Given the description of an element on the screen output the (x, y) to click on. 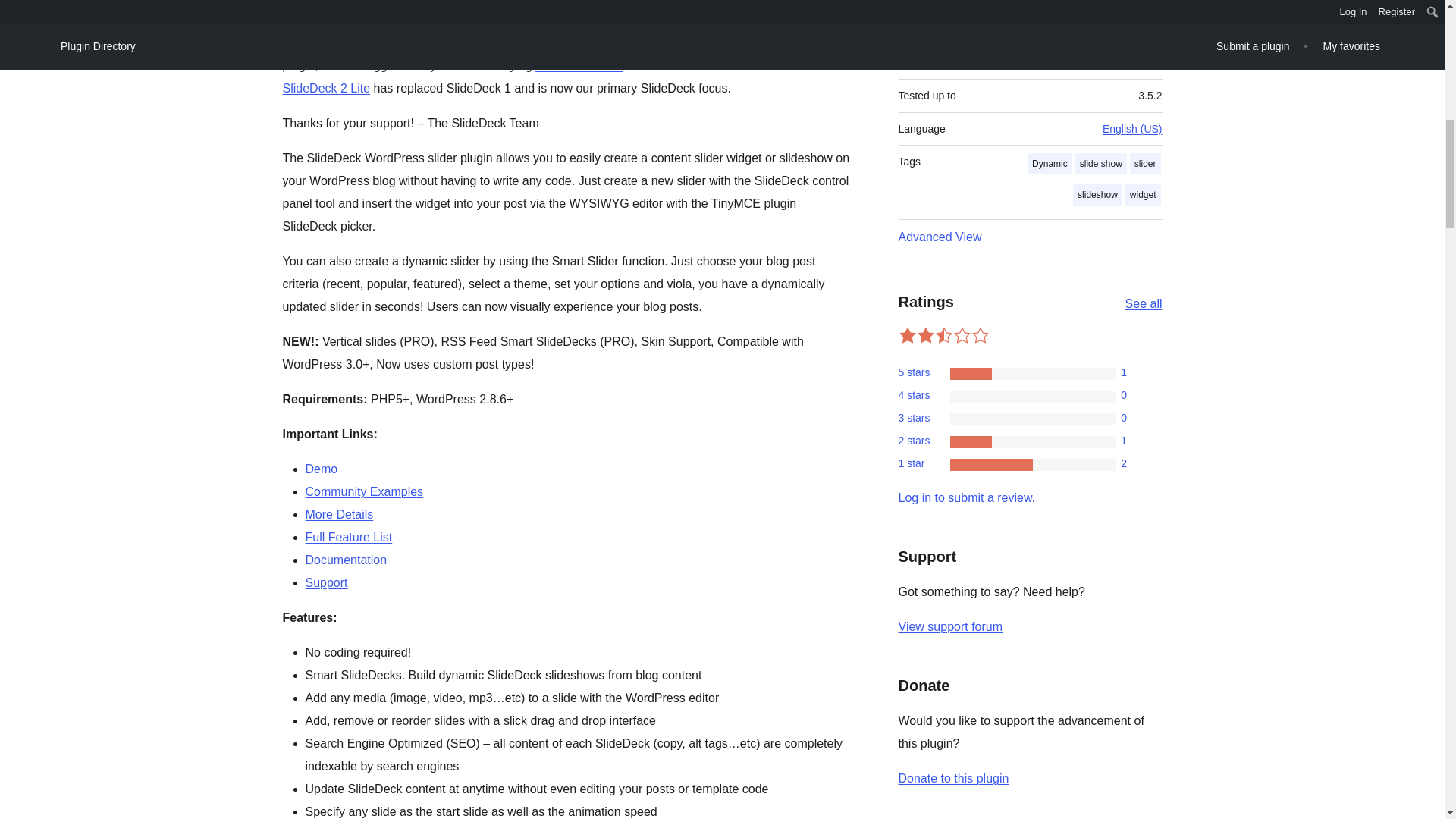
Community Examples (363, 491)
Documentation (345, 559)
Full Feature List (347, 536)
SlideDeck 2 Lite (325, 88)
More Details (338, 513)
Support (325, 582)
SlideDeck 2 Lite (579, 65)
Log in to WordPress.org (966, 497)
Demo (320, 468)
